Given the description of an element on the screen output the (x, y) to click on. 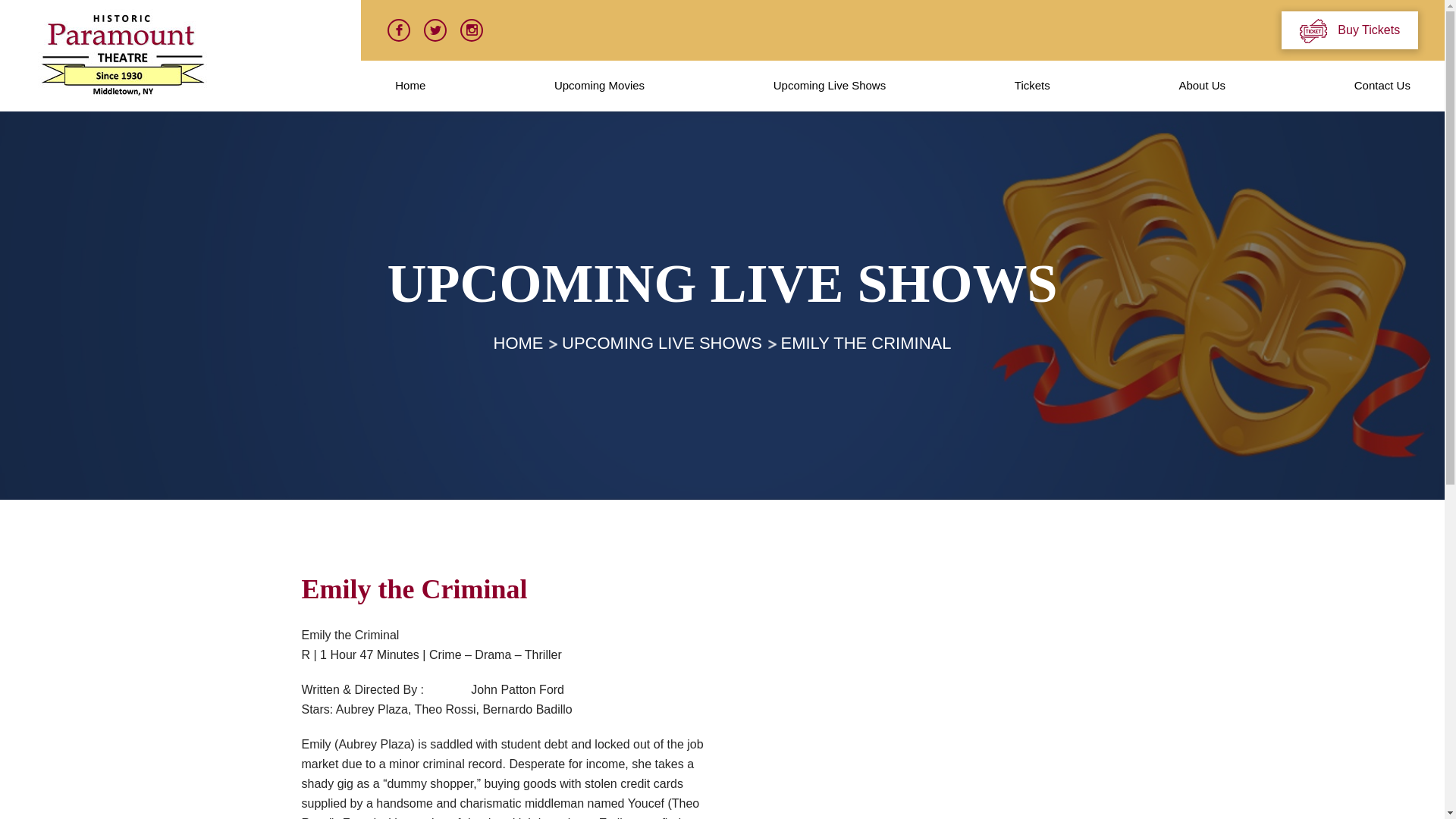
HOME (518, 342)
Tickets (1032, 85)
Contact Us (1382, 85)
Buy Tickets (1349, 30)
Upcoming Live Shows (829, 85)
Upcoming Movies (598, 85)
UPCOMING LIVE SHOWS (661, 342)
About Us (1201, 85)
Home (410, 85)
